Given the description of an element on the screen output the (x, y) to click on. 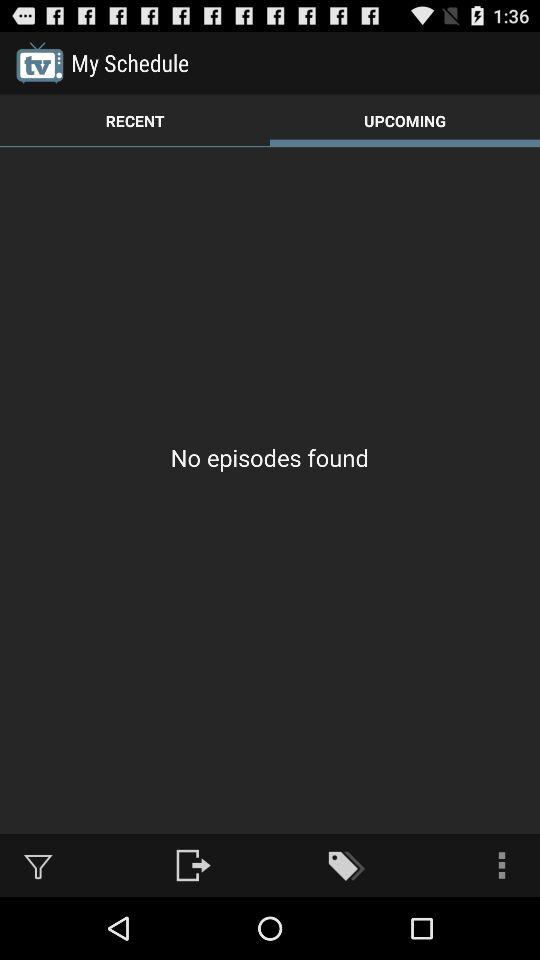
press the icon to the left of the upcoming icon (135, 120)
